Given the description of an element on the screen output the (x, y) to click on. 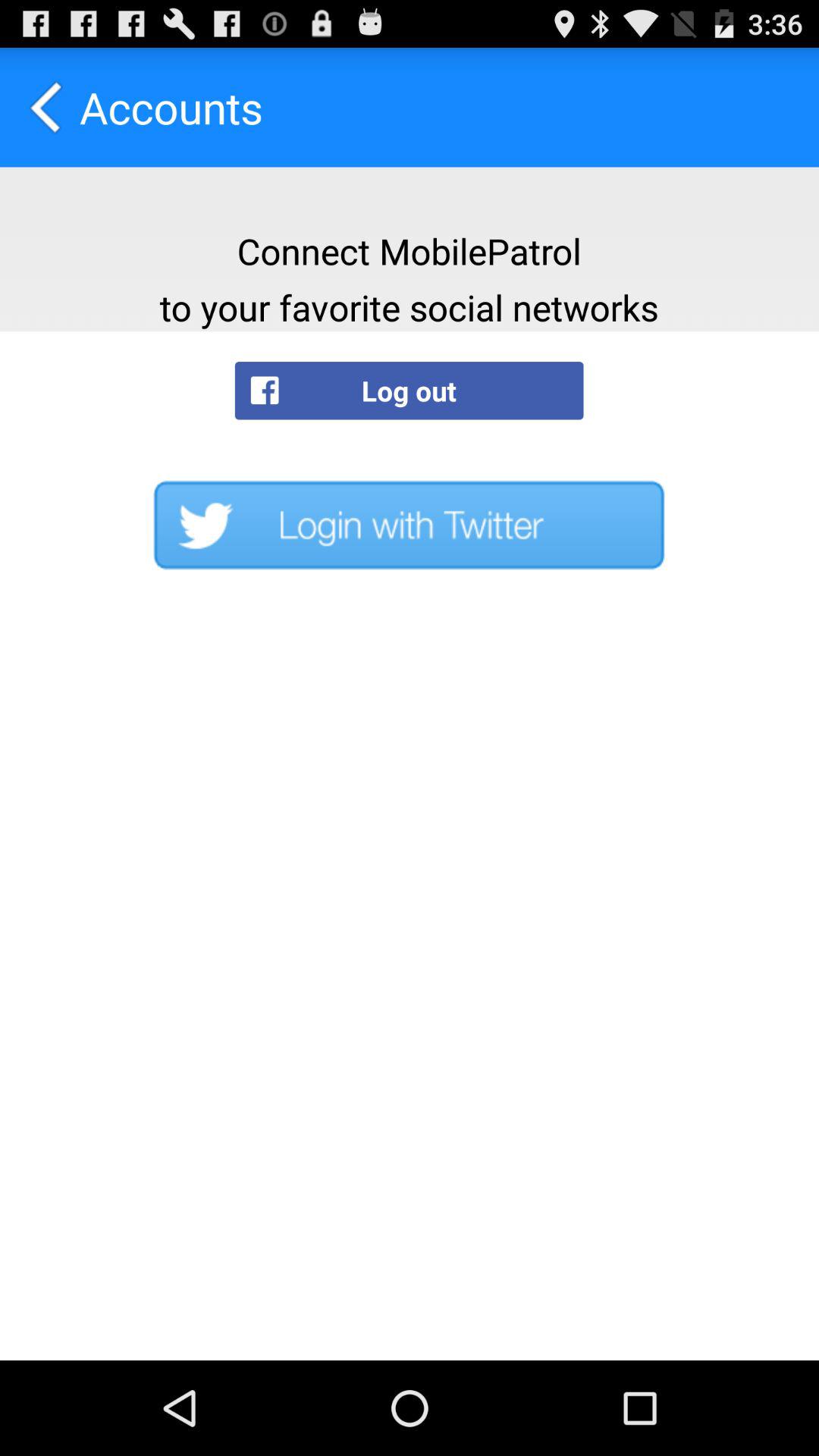
turn off the log out icon (408, 390)
